Given the description of an element on the screen output the (x, y) to click on. 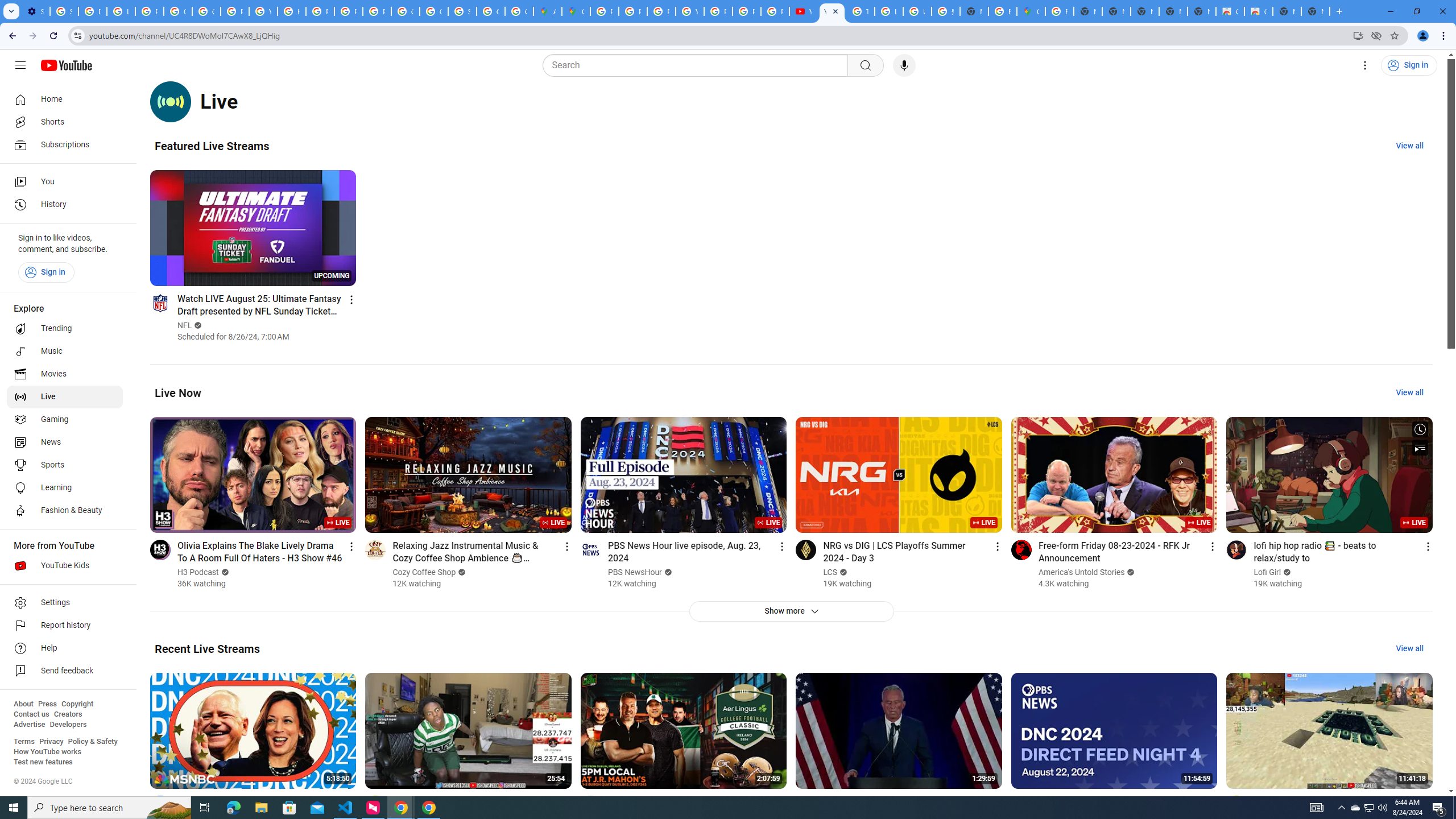
YouTube (690, 11)
YouTube Home (66, 65)
Google Account Help (178, 11)
Report history (64, 625)
Install YouTube (1358, 35)
Test new features (42, 761)
Press (46, 703)
Contact us (31, 714)
